Given the description of an element on the screen output the (x, y) to click on. 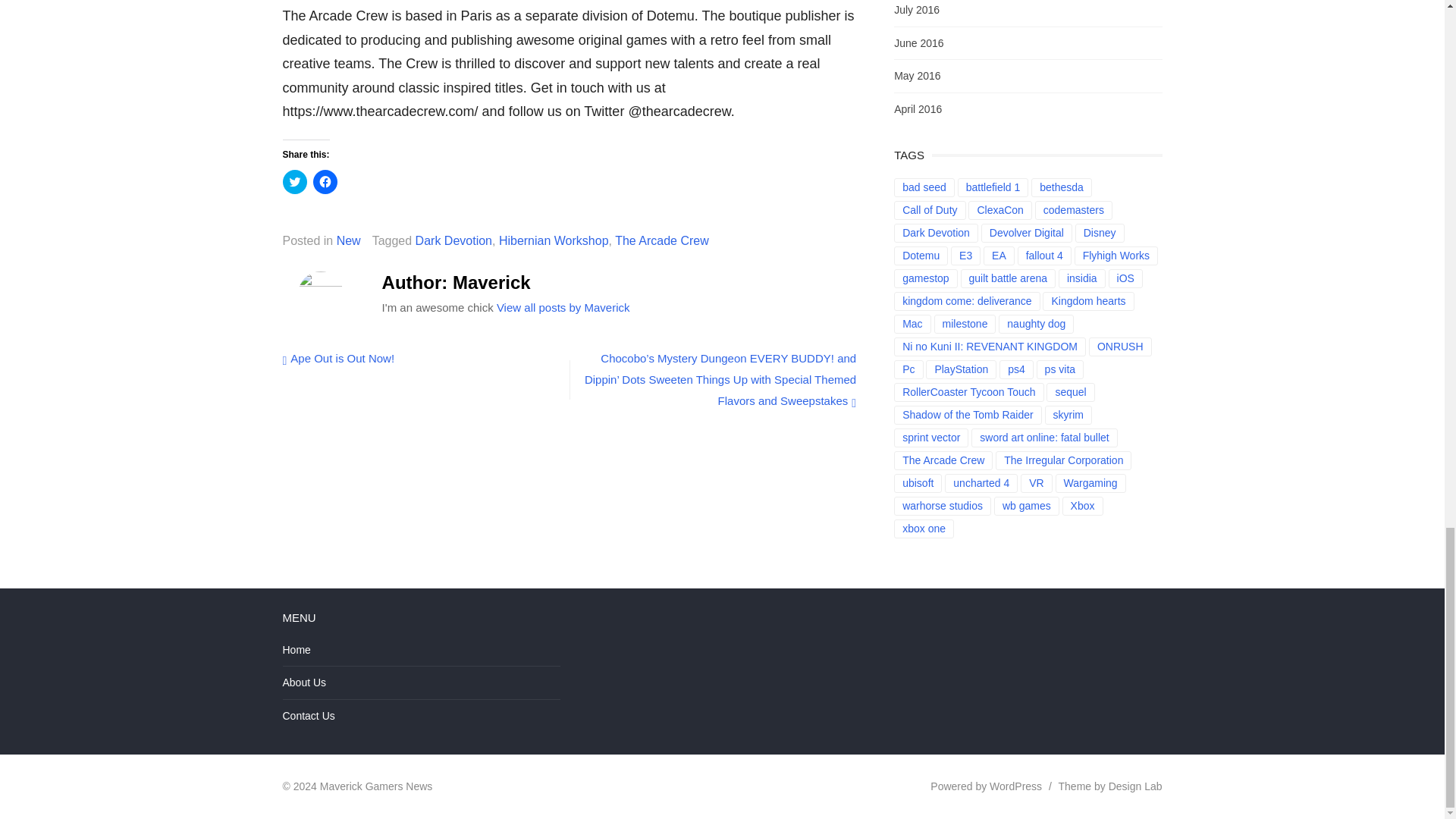
Ape Out is Out Now! (338, 358)
Dark Devotion (453, 240)
Hibernian Workshop (553, 240)
The Arcade Crew (661, 240)
View all posts by Maverick (563, 307)
New (348, 240)
Click to share on Facebook (324, 181)
Click to share on Twitter (293, 181)
